Given the description of an element on the screen output the (x, y) to click on. 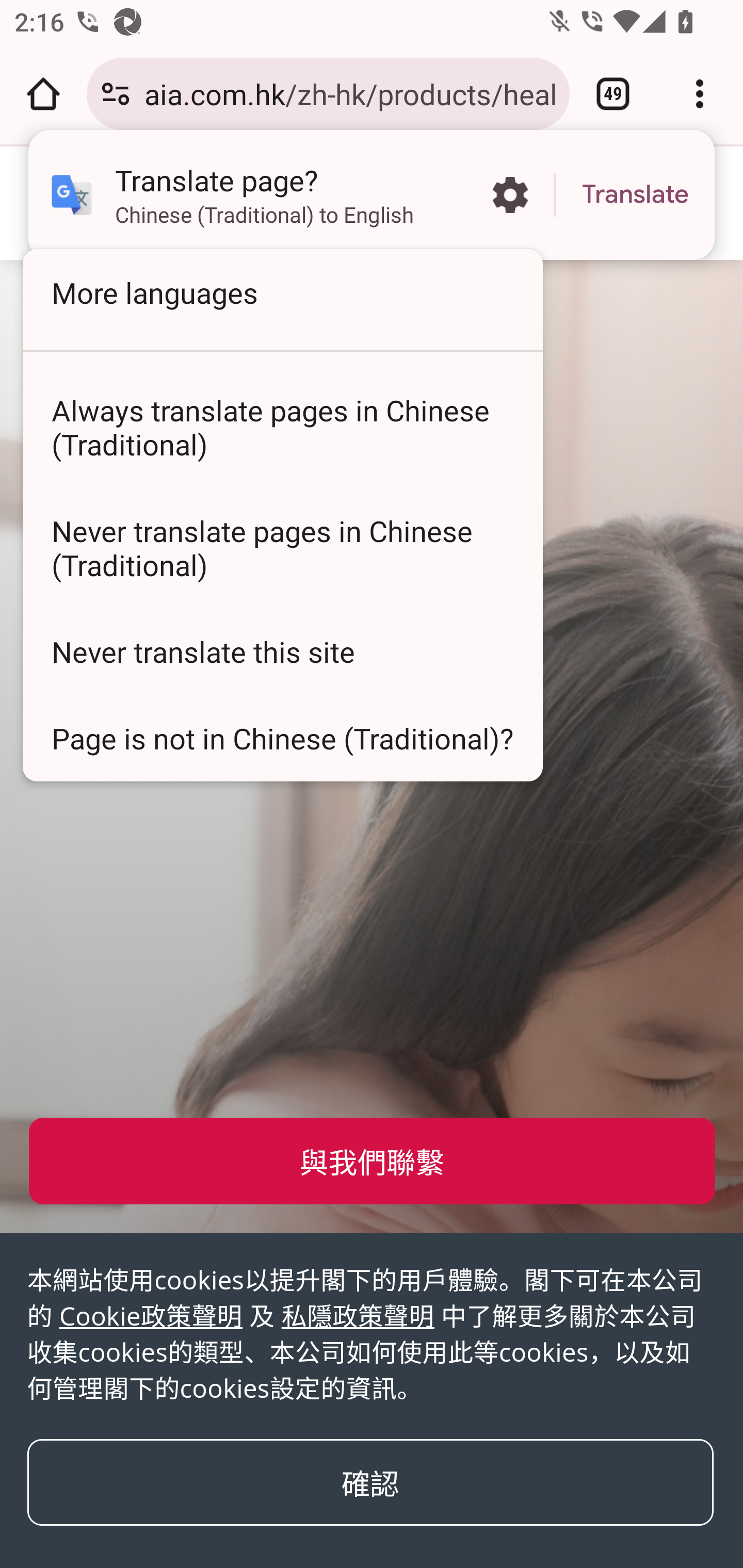
More languages (283, 292)
Always translate pages in Chinese (Traditional) (283, 426)
Never translate pages in Chinese (Traditional) (283, 547)
Never translate this site (283, 651)
Page is not in Chinese (Traditional)? (283, 737)
